Given the description of an element on the screen output the (x, y) to click on. 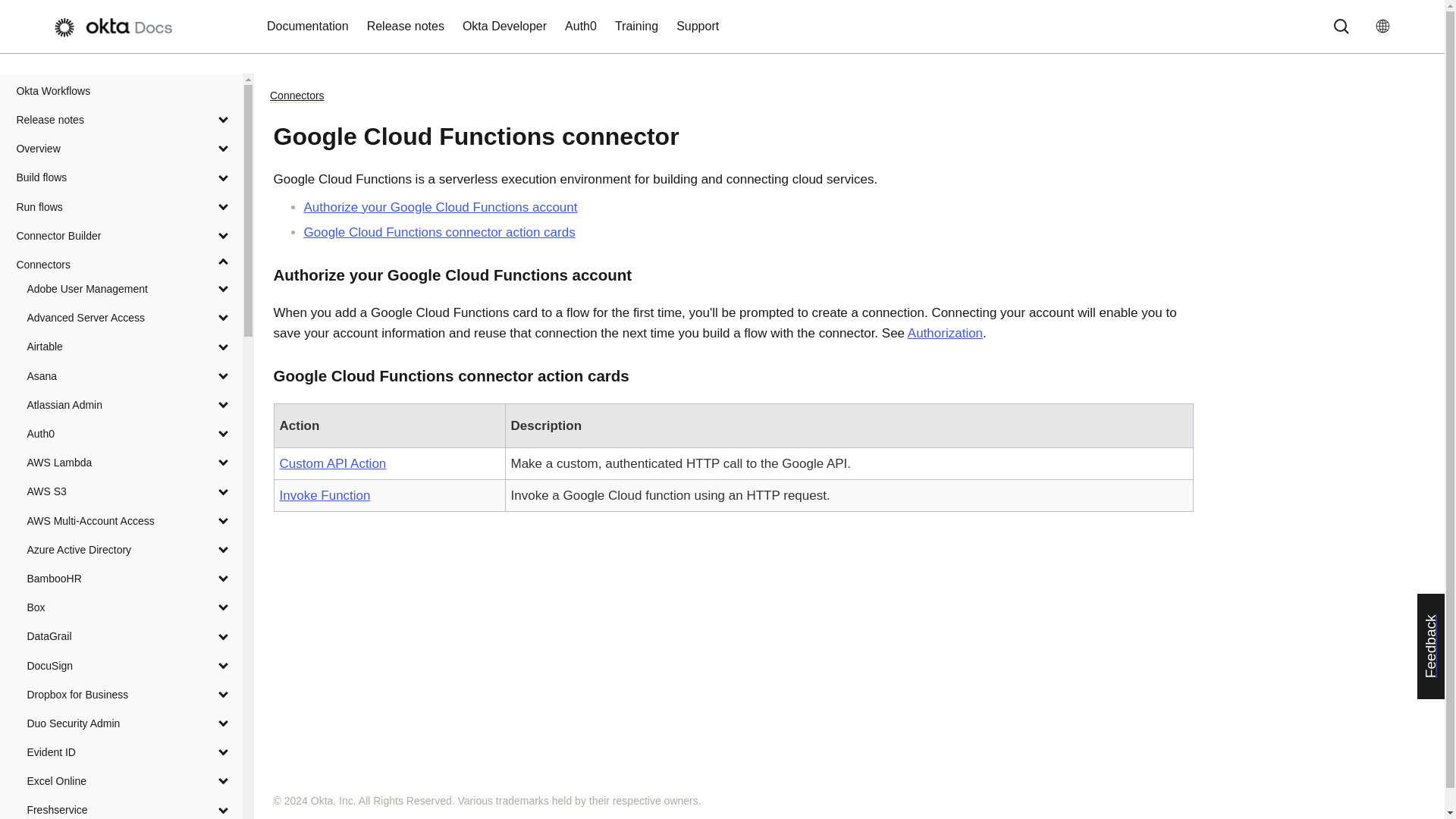
Okta Docs (120, 27)
Change language (1388, 26)
